Given the description of an element on the screen output the (x, y) to click on. 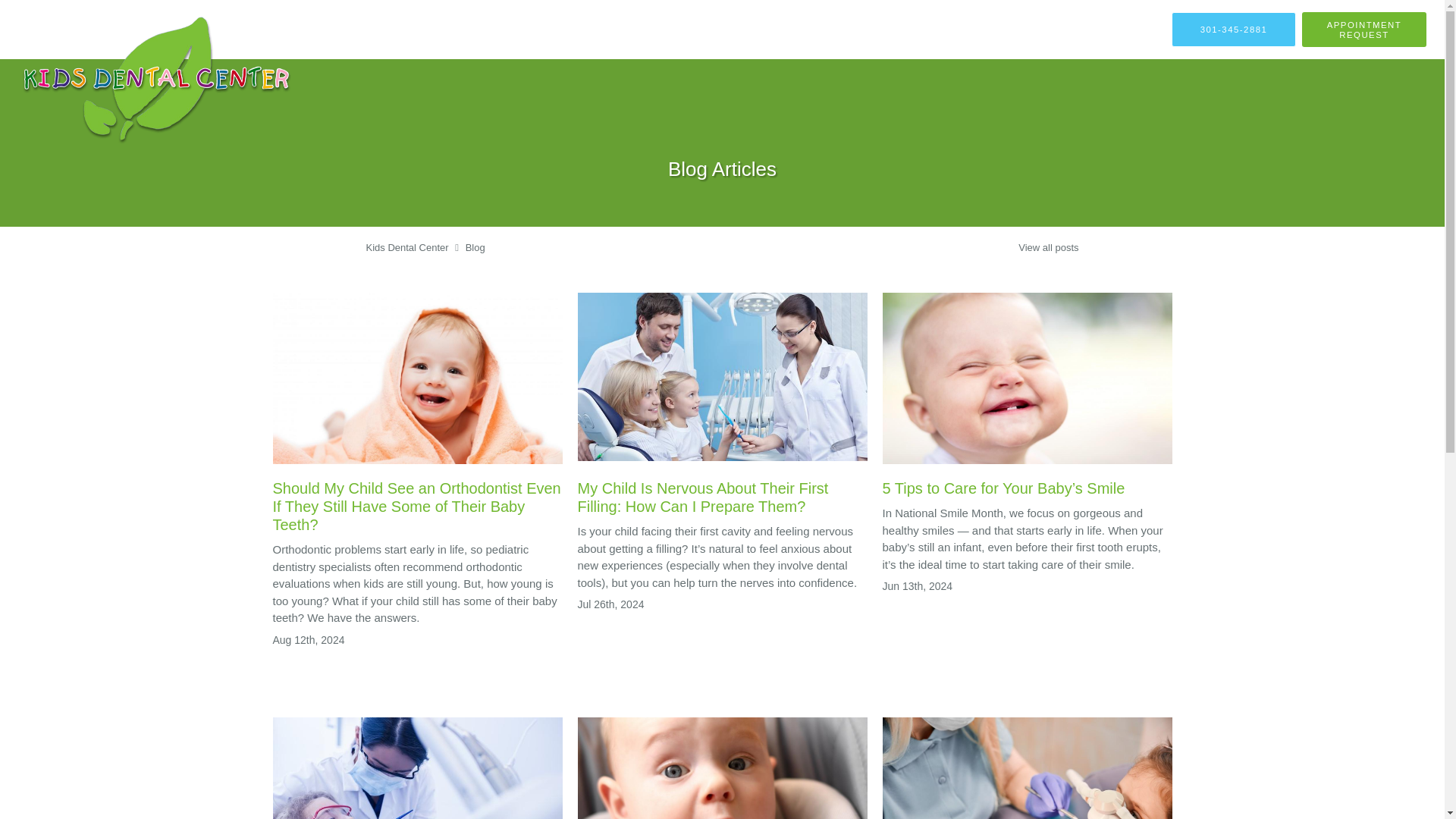
FOR PATIENTS (964, 30)
301-345-2881 (1233, 29)
SERVICES (842, 30)
APPOINTMENT REQUEST (1363, 29)
CONTACT (1136, 30)
PROVIDERS (770, 30)
TESTIMONIALS (1056, 30)
ABOUT PRACTICE (677, 30)
Skip to main content (74, 7)
